Given the description of an element on the screen output the (x, y) to click on. 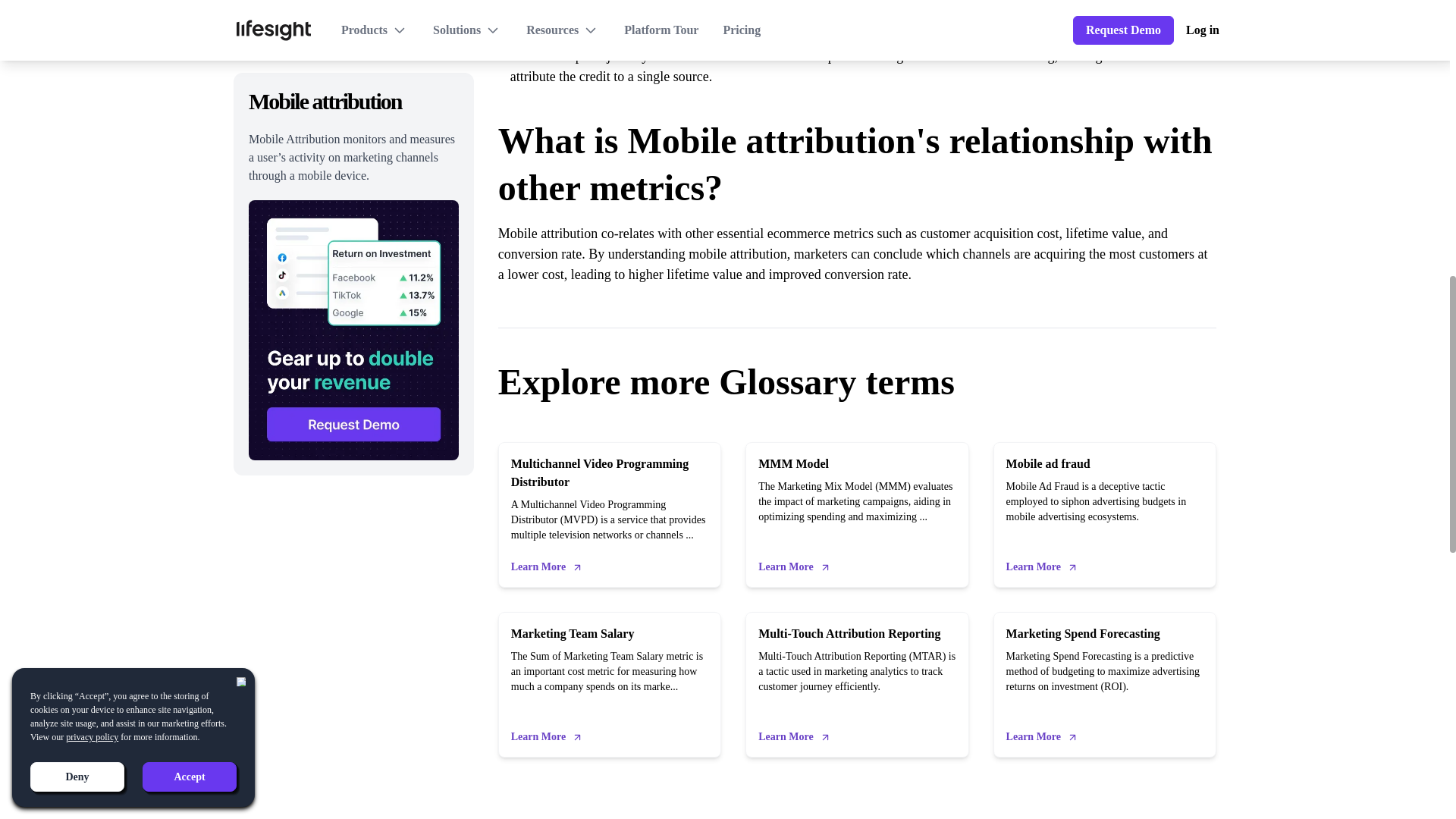
Learn More (538, 736)
Learn More (538, 566)
Learn More (785, 566)
Learn More (1033, 566)
Learn More (1033, 736)
Learn More (785, 736)
